Given the description of an element on the screen output the (x, y) to click on. 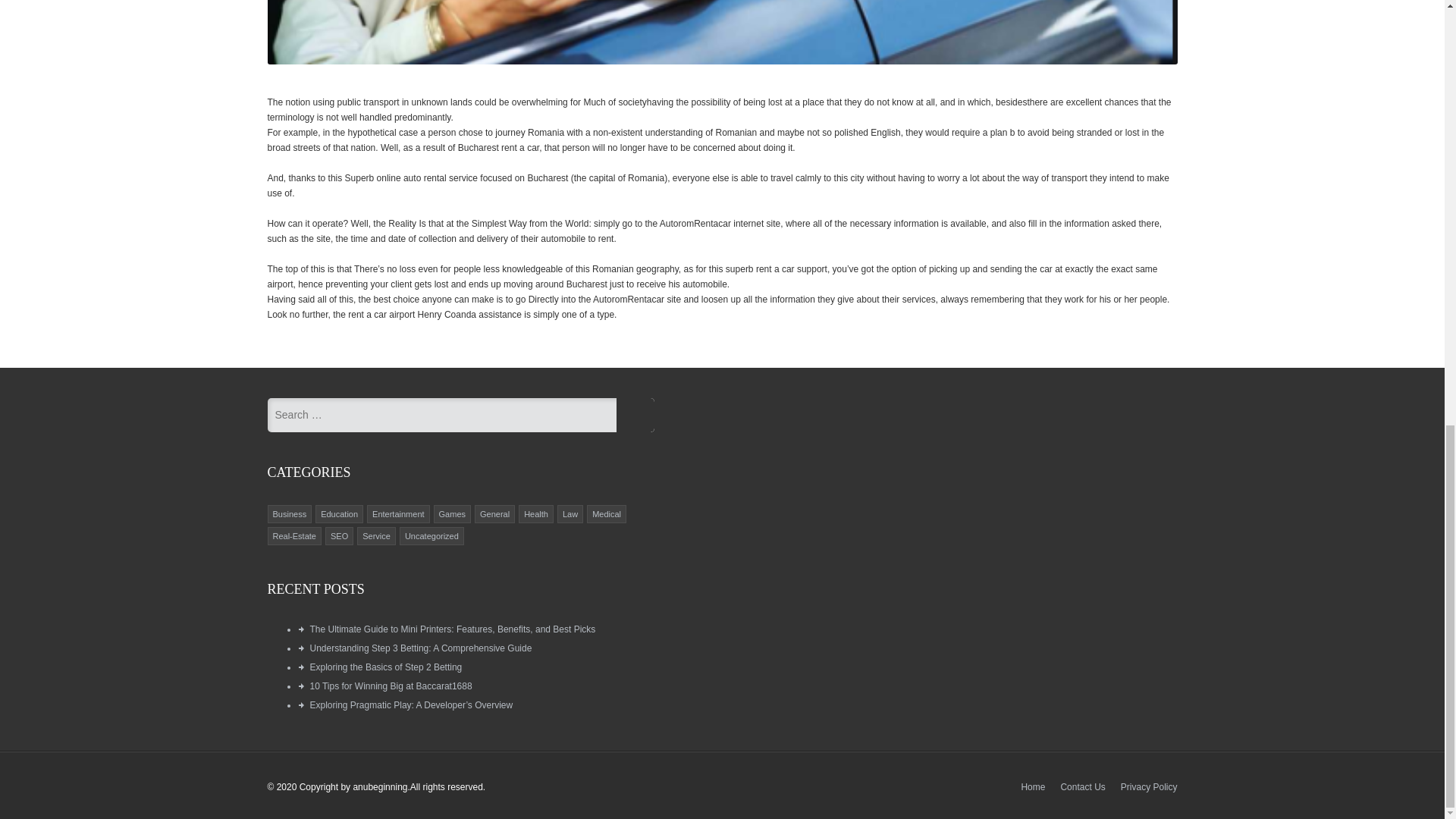
Uncategorized (431, 535)
Education (339, 513)
Home (1032, 787)
Search (634, 415)
Business (290, 513)
Service (376, 535)
Health (536, 513)
Games (452, 513)
Medical (606, 513)
Search for: (441, 414)
Law (570, 513)
Privacy Policy (1149, 787)
Home (1032, 787)
Real-Estate (294, 535)
